Given the description of an element on the screen output the (x, y) to click on. 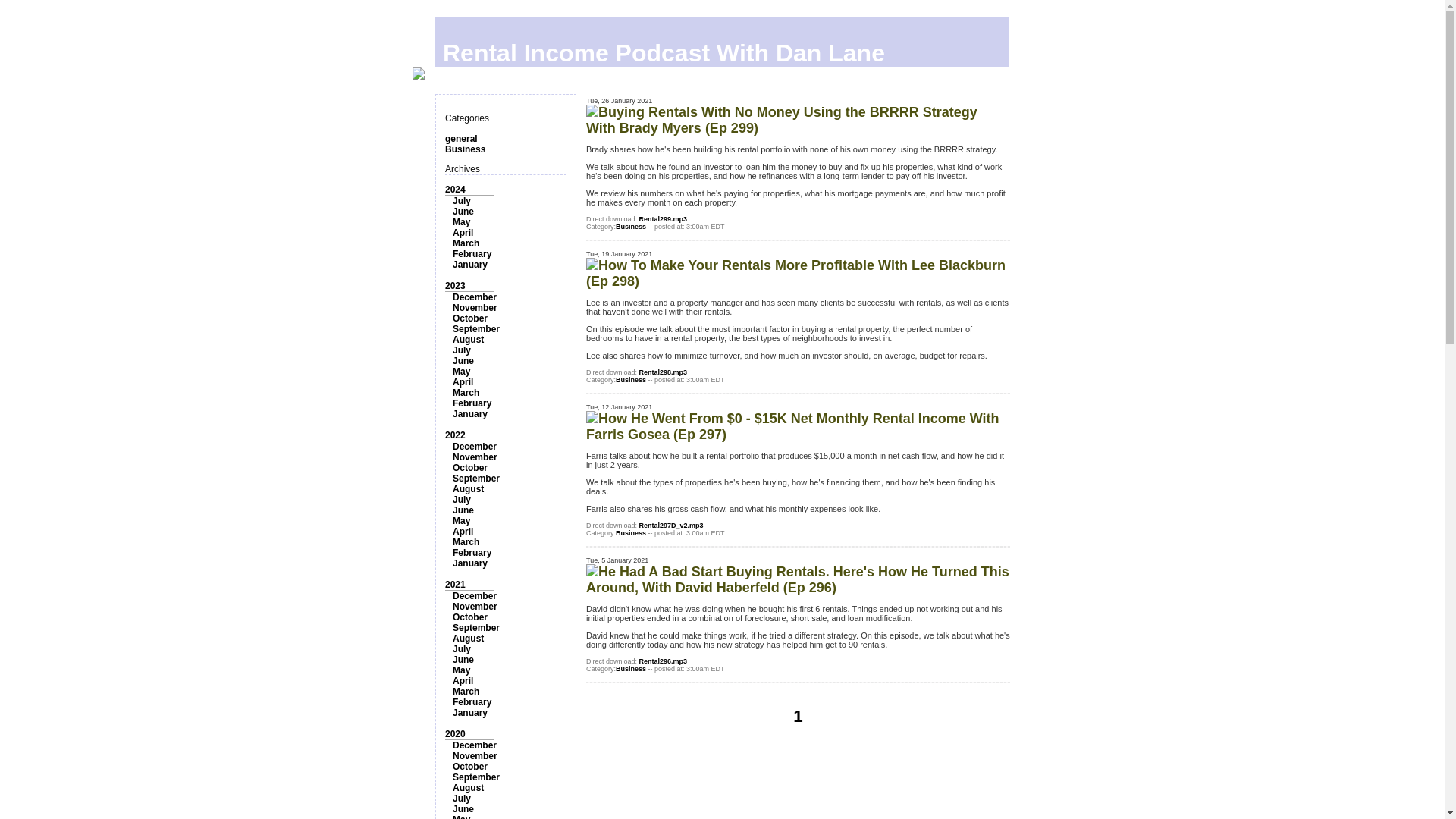
October (469, 317)
April (462, 232)
December (474, 446)
November (474, 457)
general (461, 138)
October (469, 467)
2024 (455, 189)
July (461, 349)
2022 (455, 434)
June (463, 360)
2023 (455, 285)
March (465, 243)
July (461, 499)
April (462, 531)
March (465, 542)
